Given the description of an element on the screen output the (x, y) to click on. 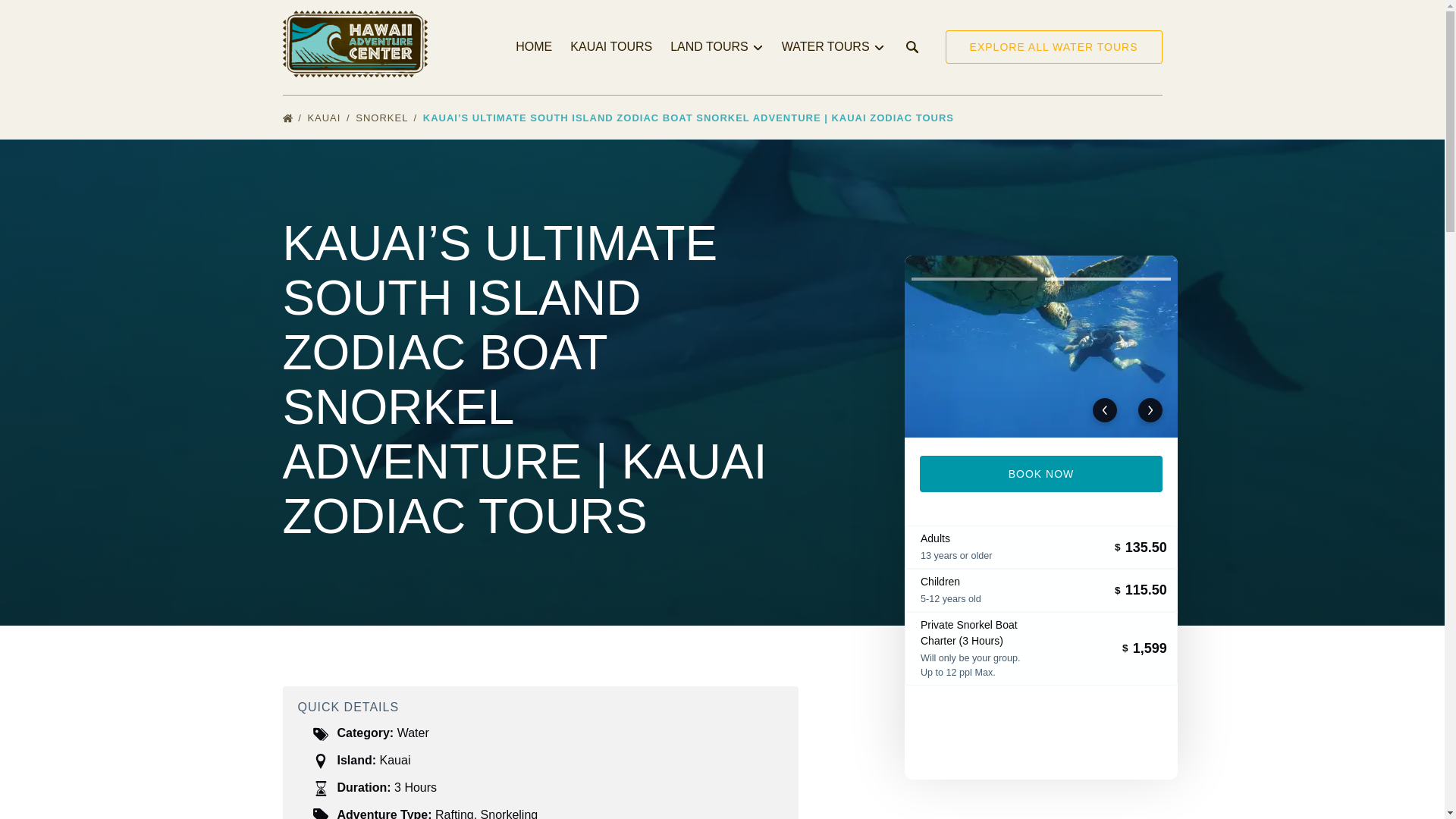
Tags (320, 734)
Skip to content (47, 16)
LAND TOURS (717, 46)
WATER TOURS (833, 46)
Open Land Tours Menu (720, 42)
Tag (320, 813)
Skip to primary navigation (77, 16)
KAUAI TOURS (610, 46)
Skip to footer (42, 16)
HOME (533, 46)
Map Marker (320, 761)
Hour Glass (320, 788)
Open Water Tours Menu (834, 37)
